Given the description of an element on the screen output the (x, y) to click on. 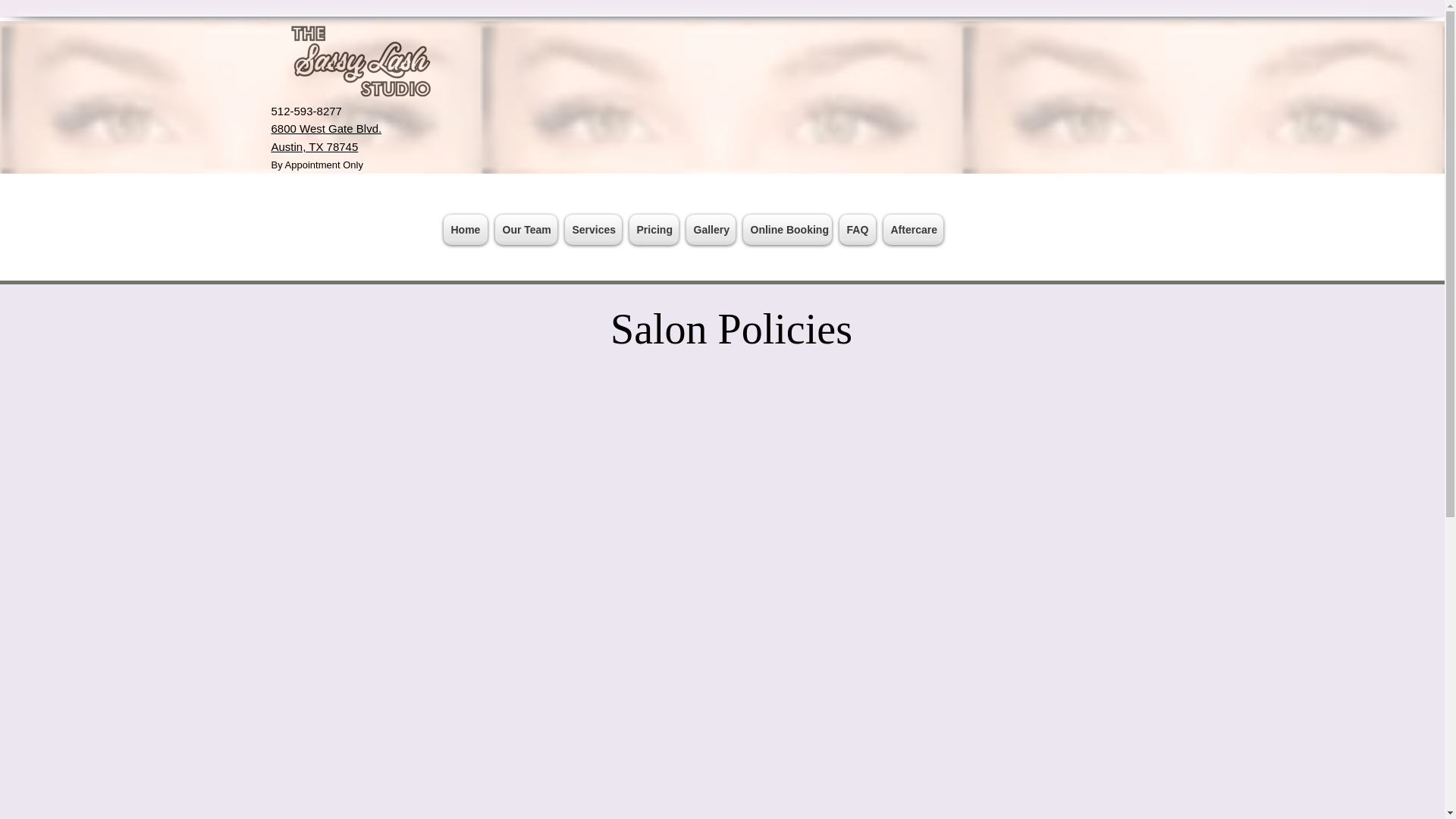
Services (593, 229)
512-593-8277 (306, 110)
Gallery (710, 229)
Online Booking (786, 229)
Aftercare (913, 229)
FAQ (857, 229)
Our Team (526, 229)
Home (466, 229)
Pricing (652, 229)
6800 West Gate Blvd. Austin, TX 78745 (325, 137)
